Given the description of an element on the screen output the (x, y) to click on. 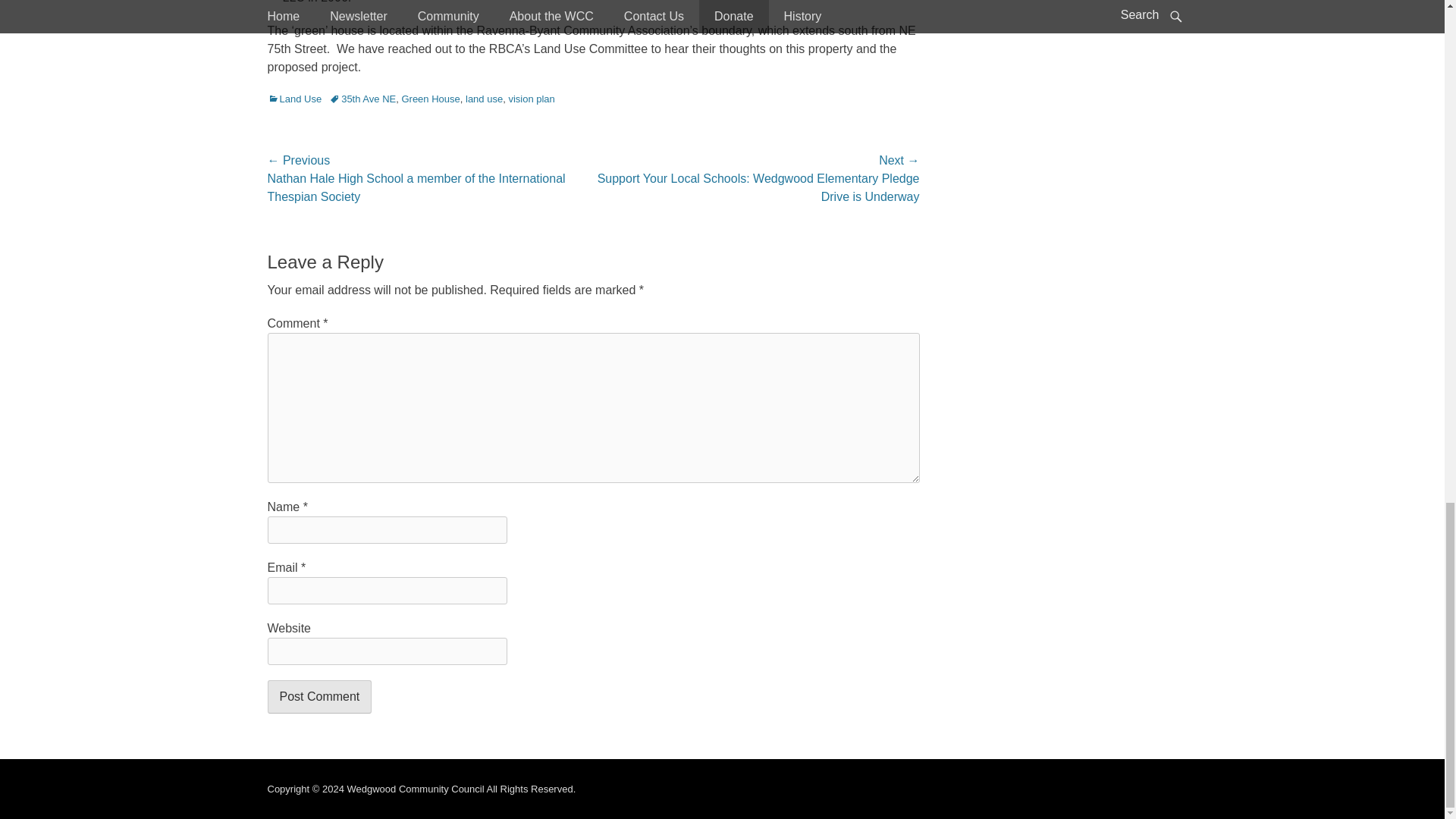
Green House (430, 98)
35th Ave NE (362, 98)
Post Comment (318, 696)
Land Use (293, 98)
